Given the description of an element on the screen output the (x, y) to click on. 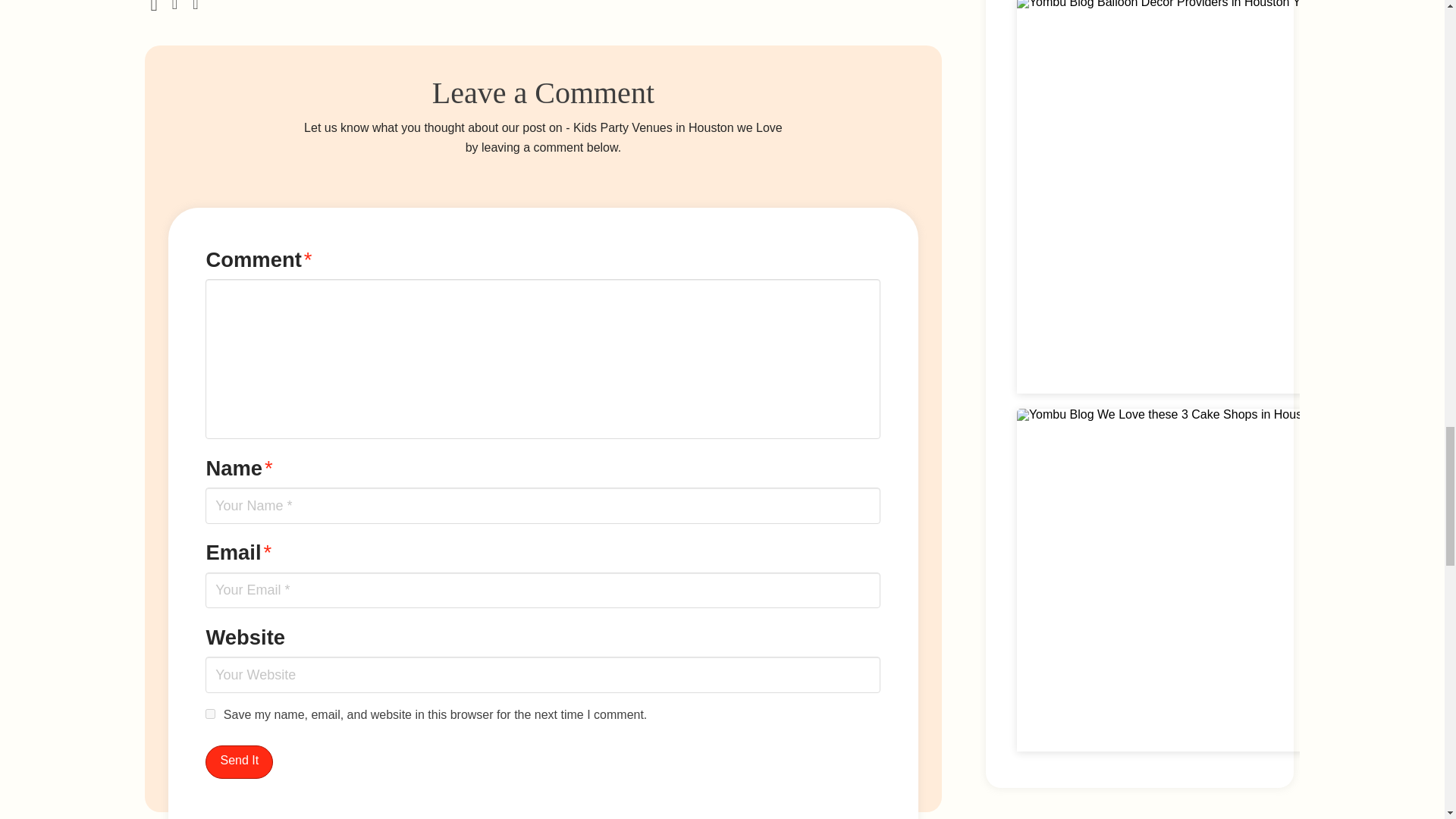
yes (210, 714)
Send It (239, 762)
